Given the description of an element on the screen output the (x, y) to click on. 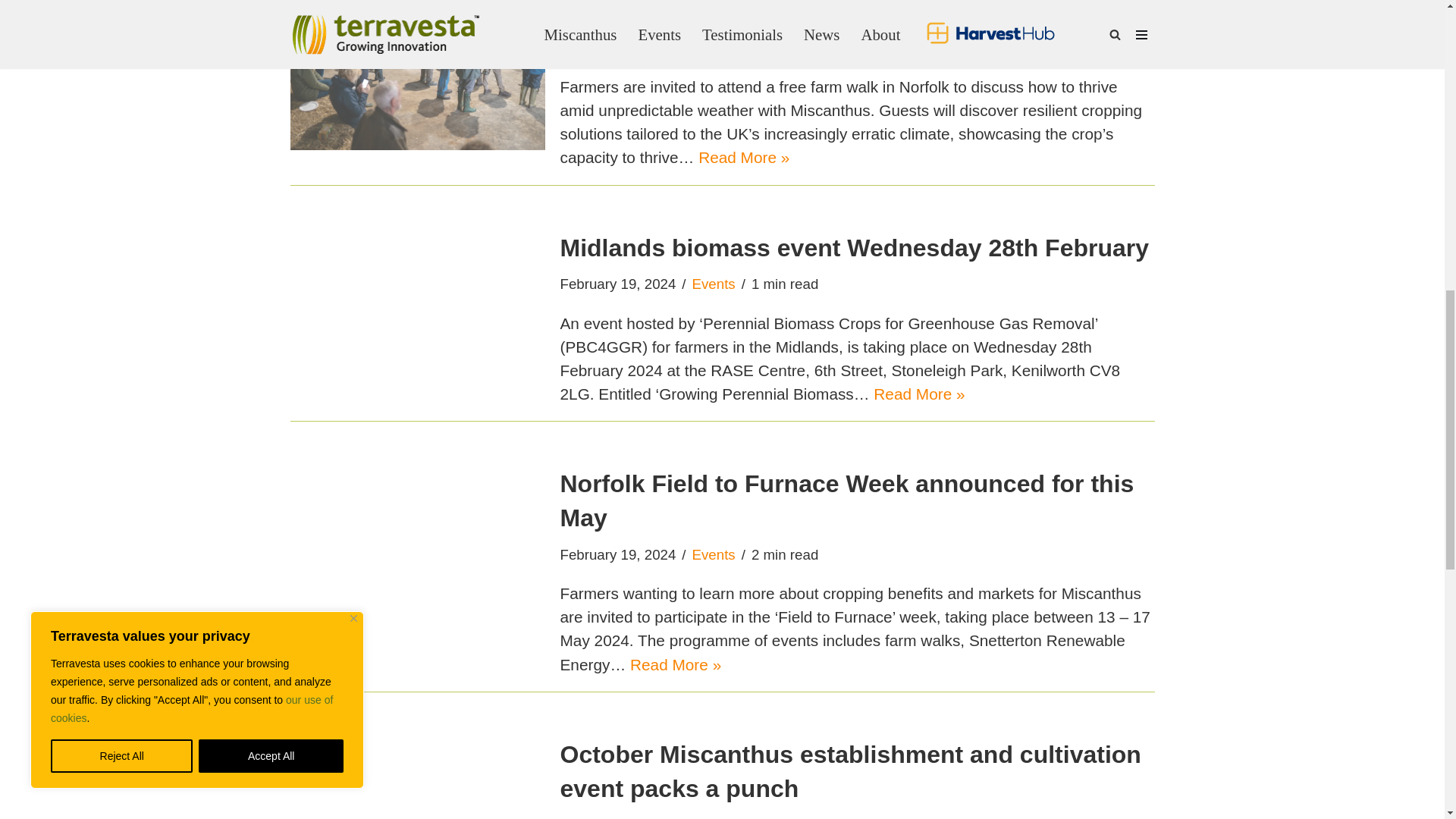
Midlands biomass event Wednesday 28th February (416, 318)
Norfolk Field to Furnace Week announced for this May (416, 571)
